Given the description of an element on the screen output the (x, y) to click on. 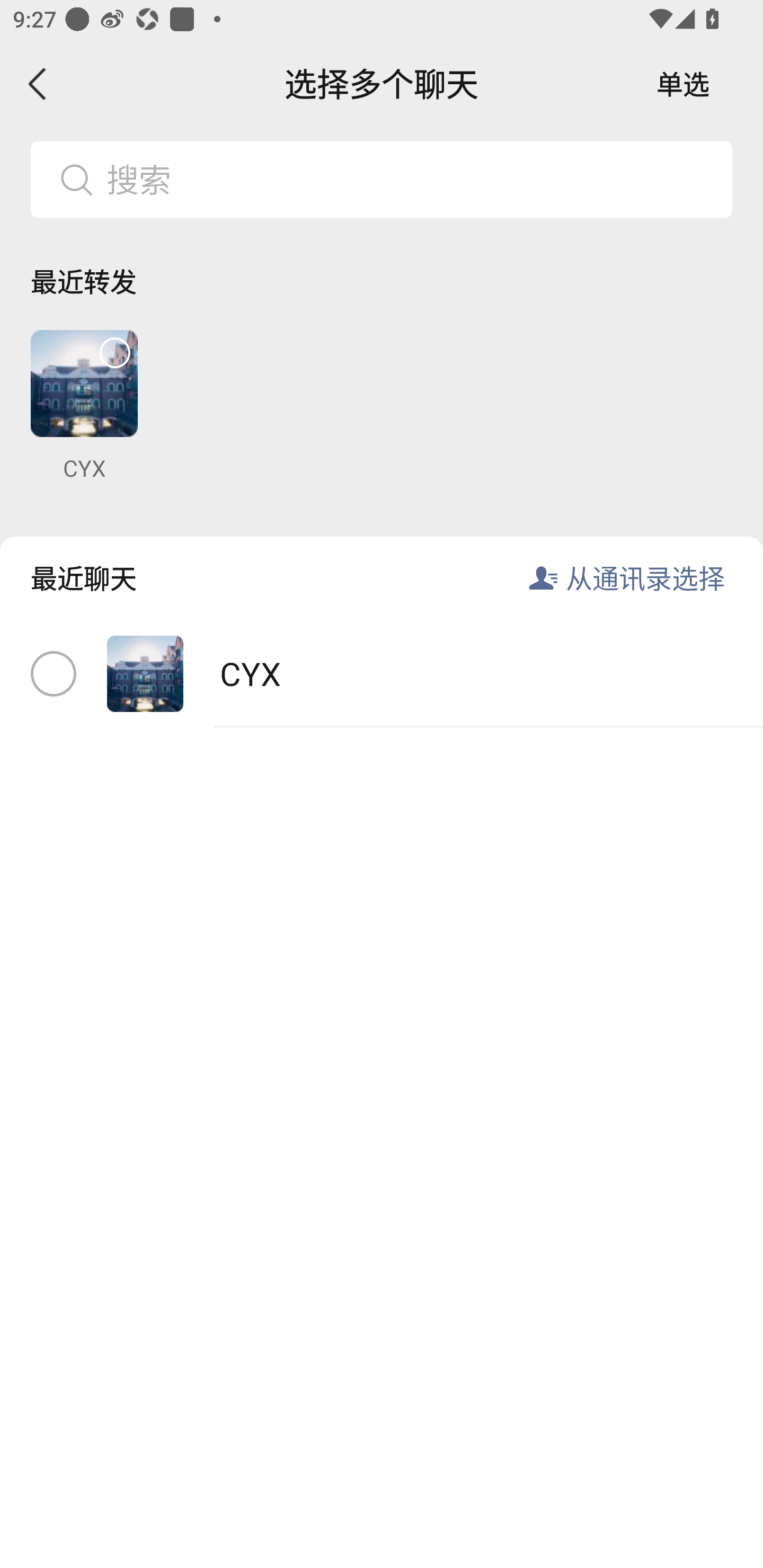
返回 (38, 83)
单选 (683, 83)
搜索 (411, 179)
CYX (84, 405)
从通讯录选择 (645, 577)
CYX (381, 673)
